Given the description of an element on the screen output the (x, y) to click on. 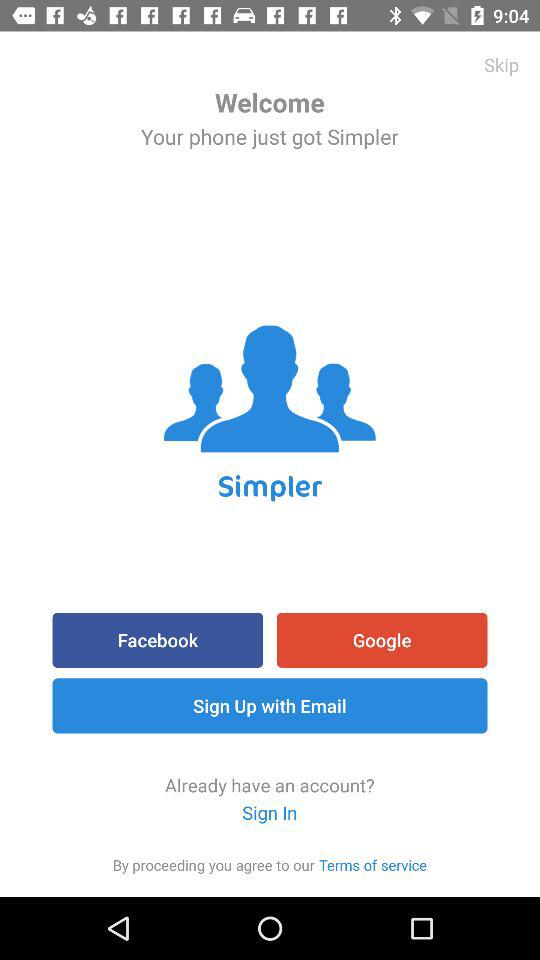
turn on item to the right of welcome item (501, 64)
